Given the description of an element on the screen output the (x, y) to click on. 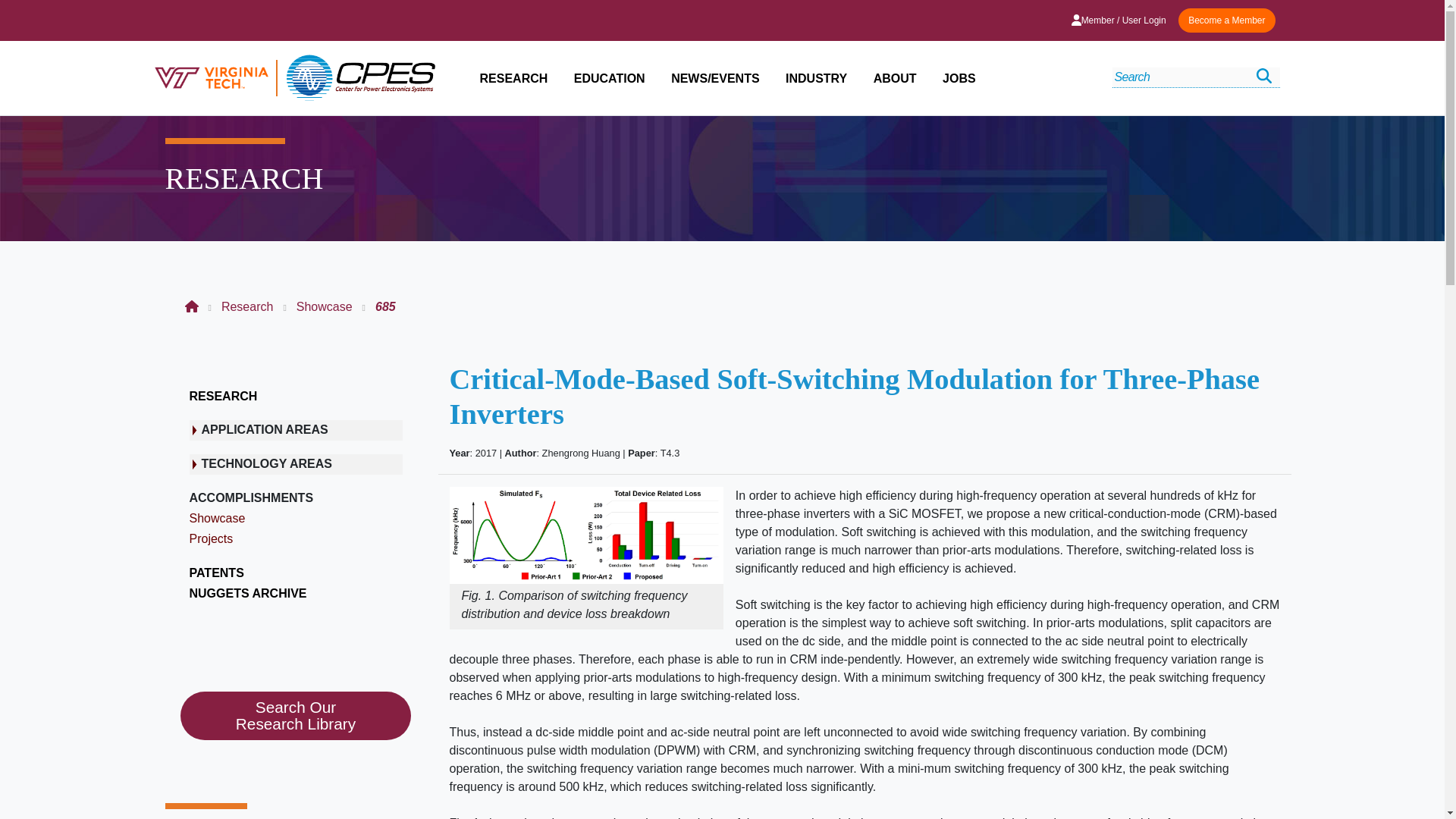
Search (1262, 76)
RESEARCH (513, 78)
Become a Member (1226, 20)
Home Page (191, 306)
